Given the description of an element on the screen output the (x, y) to click on. 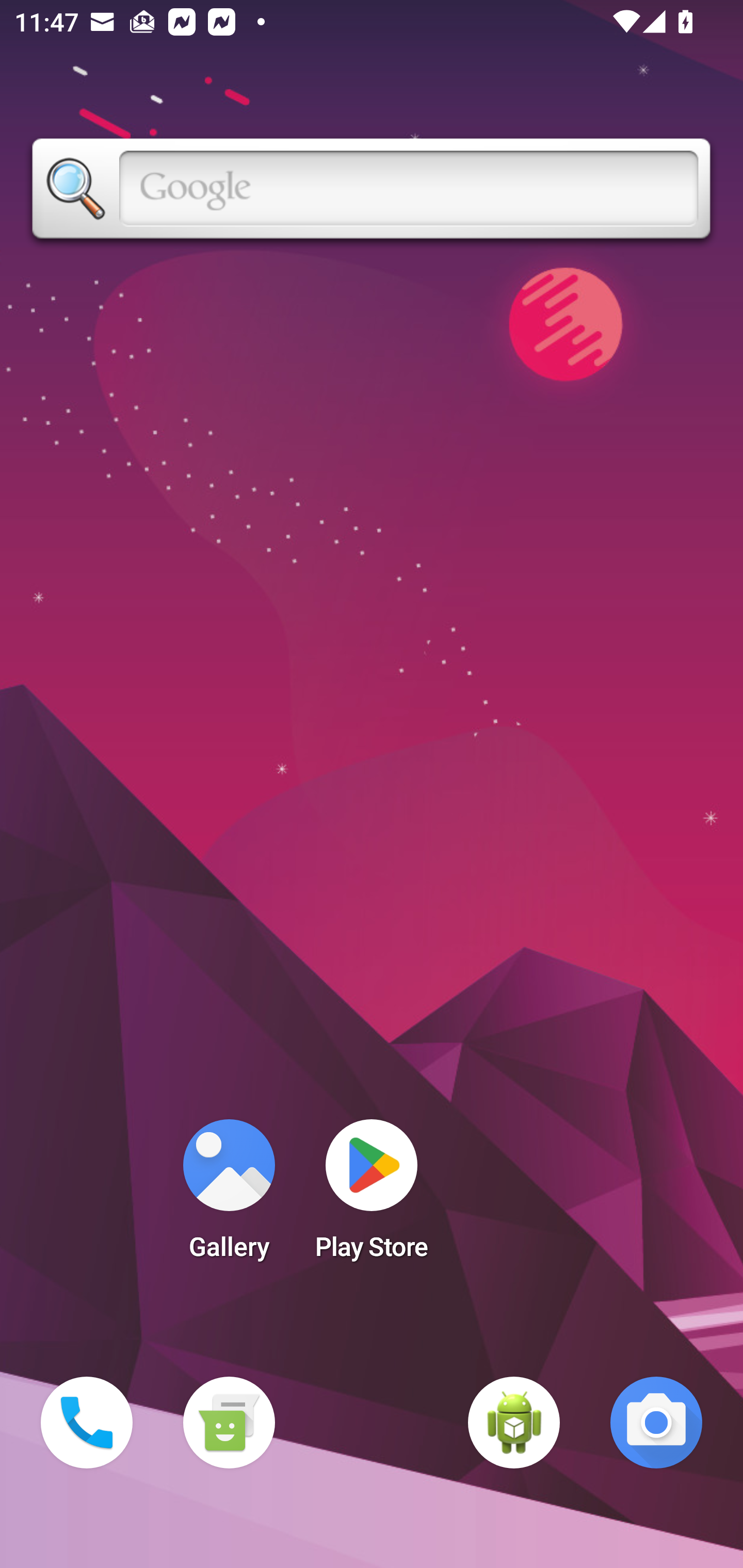
Gallery (228, 1195)
Play Store (371, 1195)
Phone (86, 1422)
Messaging (228, 1422)
WebView Browser Tester (513, 1422)
Camera (656, 1422)
